Given the description of an element on the screen output the (x, y) to click on. 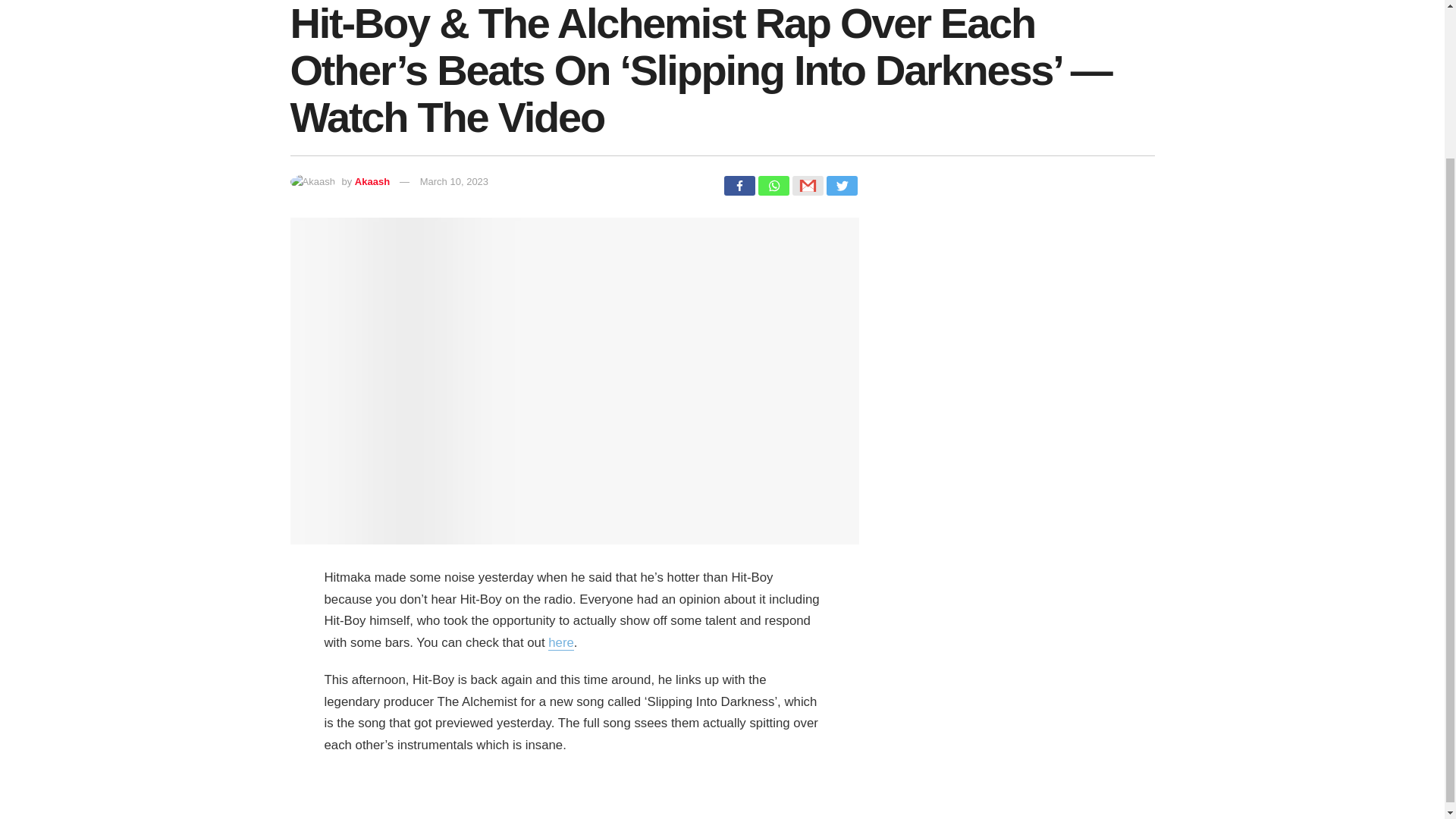
March 10, 2023 (453, 181)
Twitter (842, 185)
Akaash (372, 181)
Google Gmail (807, 185)
Facebook (738, 185)
Whatsapp (773, 185)
